Given the description of an element on the screen output the (x, y) to click on. 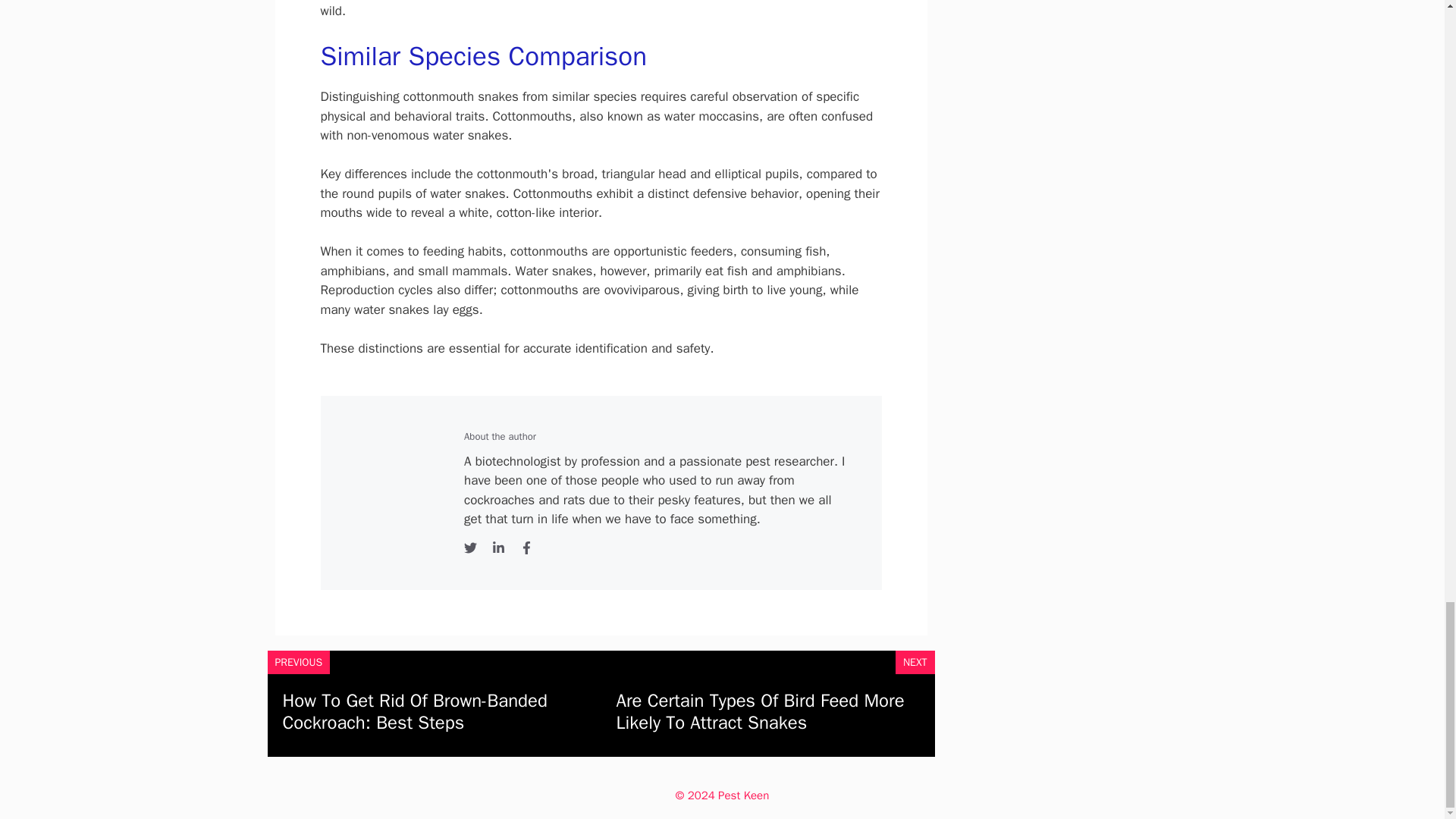
Are Certain Types Of Bird Feed More Likely To Attract Snakes (759, 711)
How To Get Rid Of Brown-Banded Cockroach: Best Steps (414, 711)
